Given the description of an element on the screen output the (x, y) to click on. 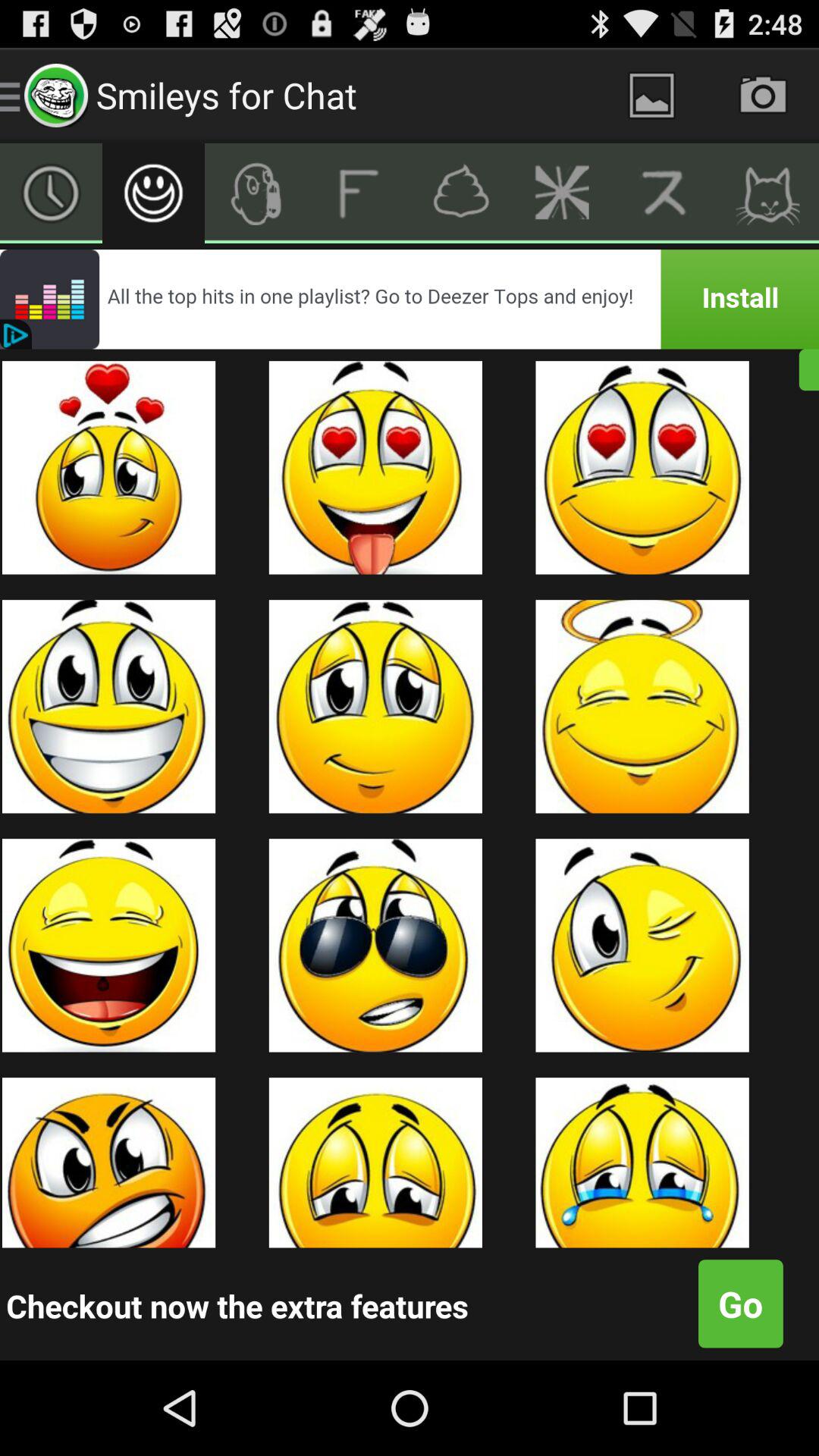
link to photo album on phone (651, 95)
